Given the description of an element on the screen output the (x, y) to click on. 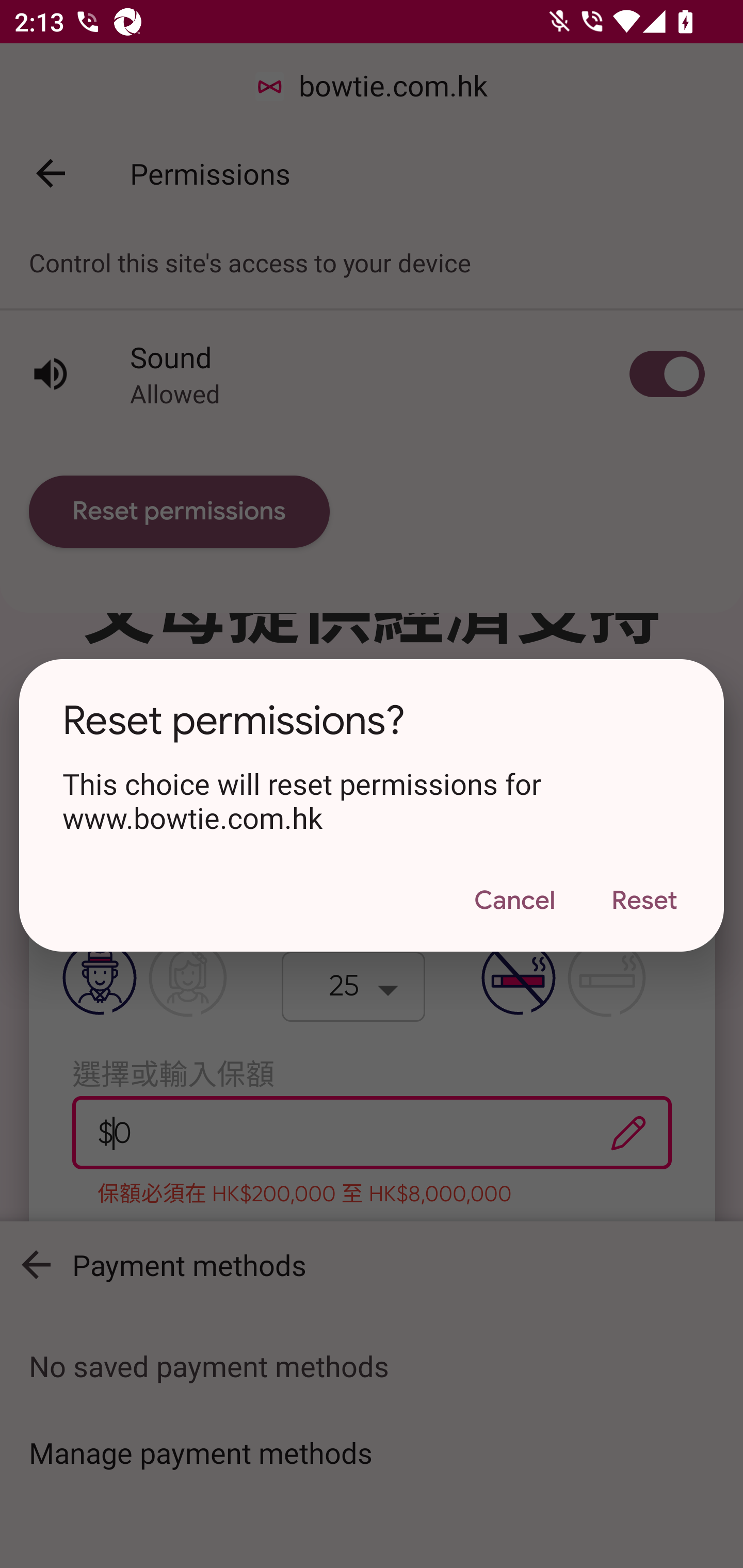
Cancel (514, 900)
Reset (644, 900)
